Given the description of an element on the screen output the (x, y) to click on. 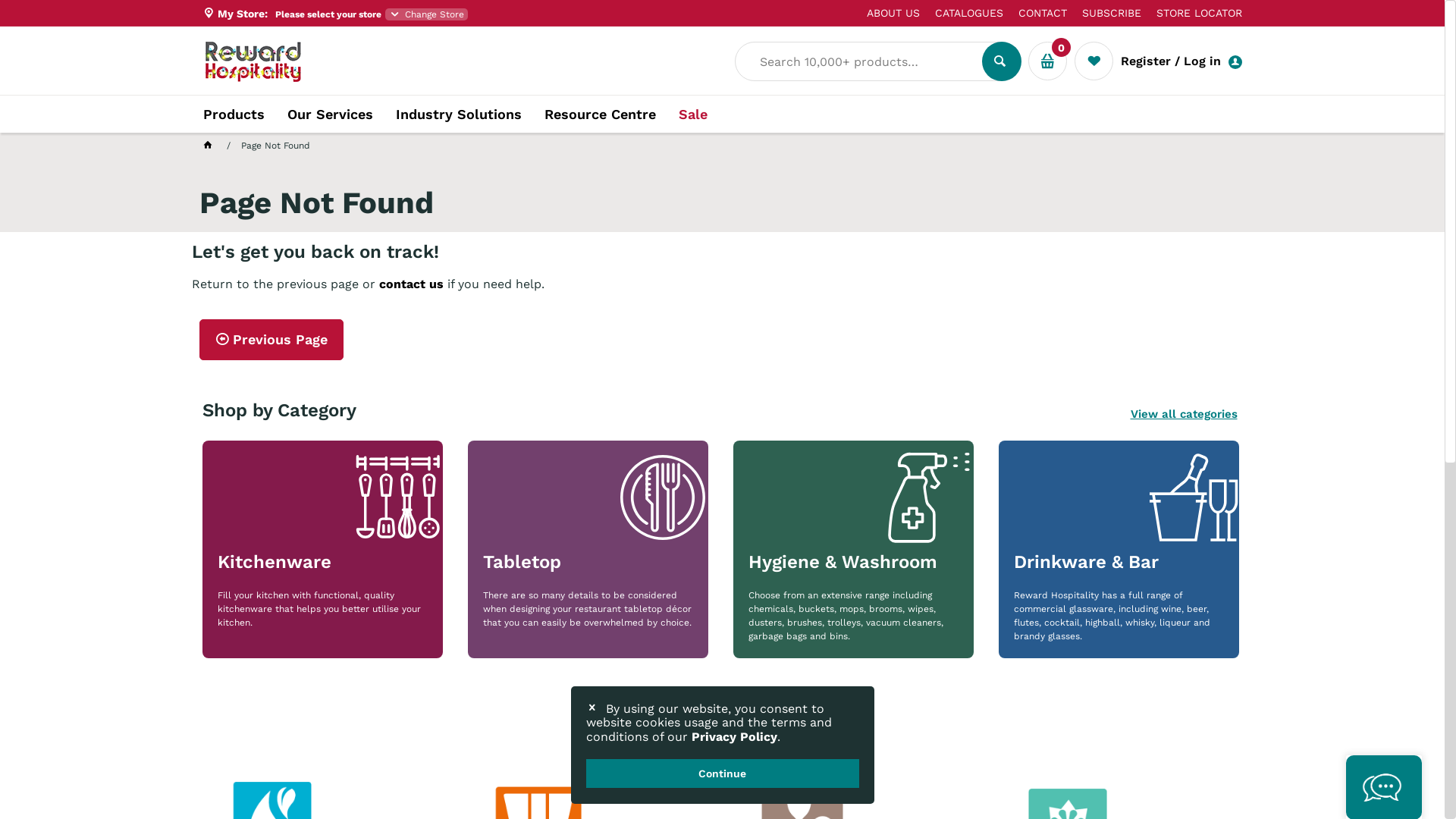
Continue Element type: text (721, 773)
contact us Element type: text (411, 283)
CONTACT Element type: text (1034, 12)
SUBSCRIBE Element type: text (1103, 12)
Previous Page Element type: text (270, 339)
Privacy Policy Element type: text (734, 736)
Industry Solutions Element type: text (458, 114)
View all categories Element type: text (1182, 413)
Register / Log in Element type: text (1186, 61)
0 Element type: text (1047, 60)
Sale Element type: text (691, 114)
Resource Centre Element type: text (599, 114)
Our Services Element type: text (329, 114)
ABOUT US Element type: text (884, 12)
CATALOGUES Element type: text (960, 12)
STORE LOCATOR Element type: text (1190, 12)
